Given the description of an element on the screen output the (x, y) to click on. 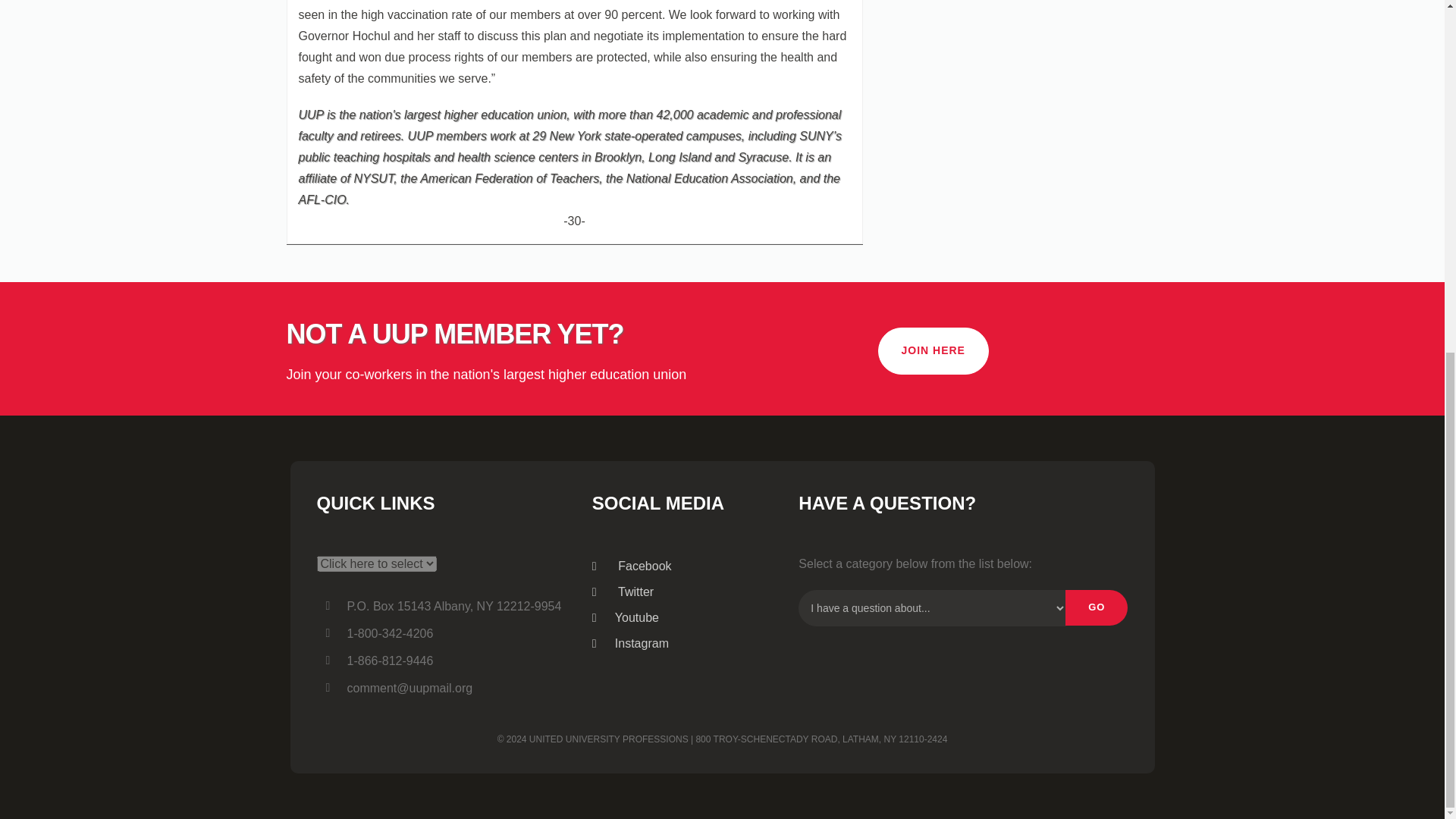
Go (1095, 607)
